Given the description of an element on the screen output the (x, y) to click on. 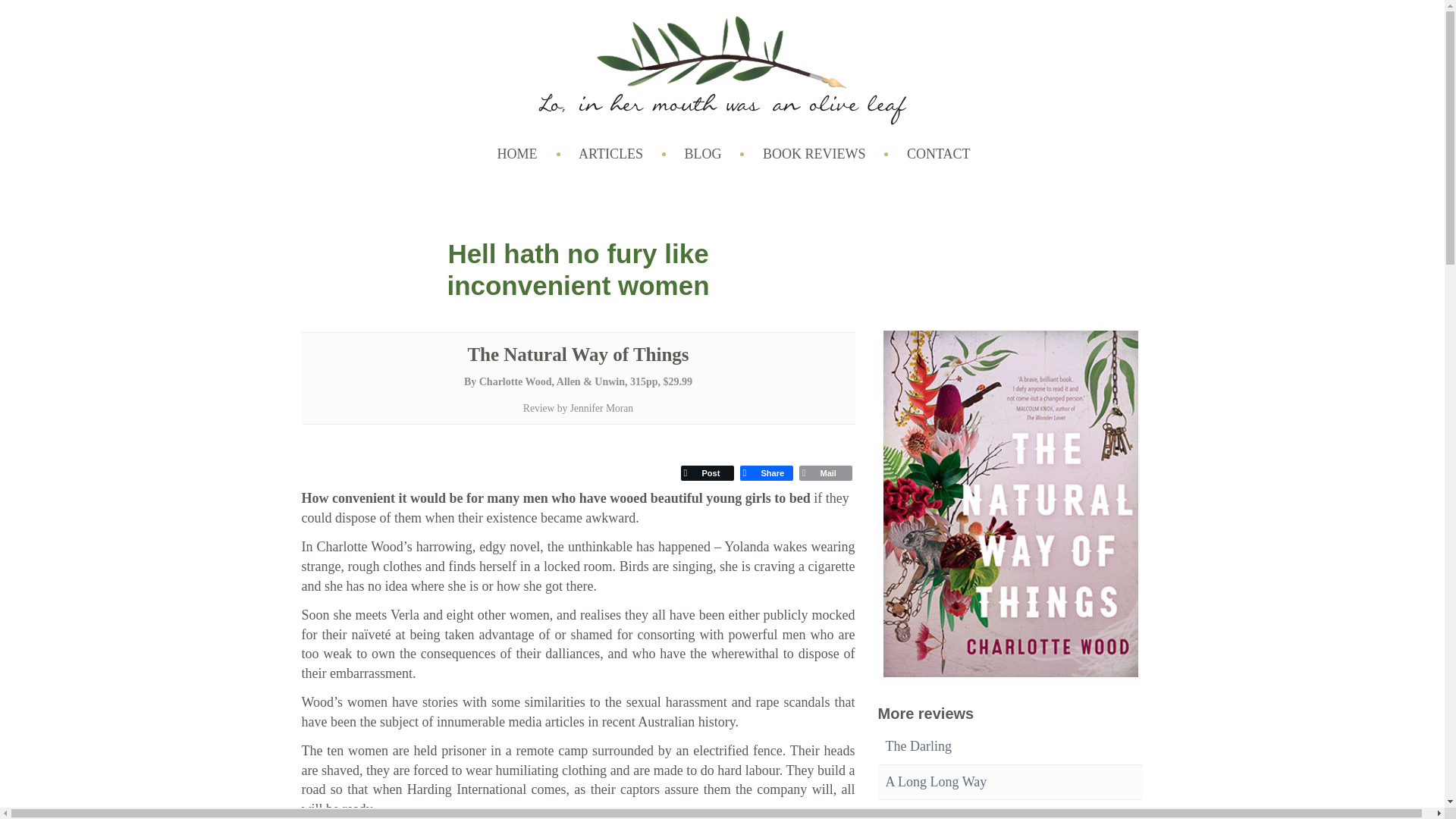
ARTICLES (621, 154)
Facebook (766, 473)
The Darling (918, 745)
Saltwater (911, 814)
HOME (528, 154)
A Long Long Way (936, 781)
CONTACT (949, 154)
Email This (826, 473)
BOOK REVIEWS (825, 154)
BLOG (714, 154)
